Given the description of an element on the screen output the (x, y) to click on. 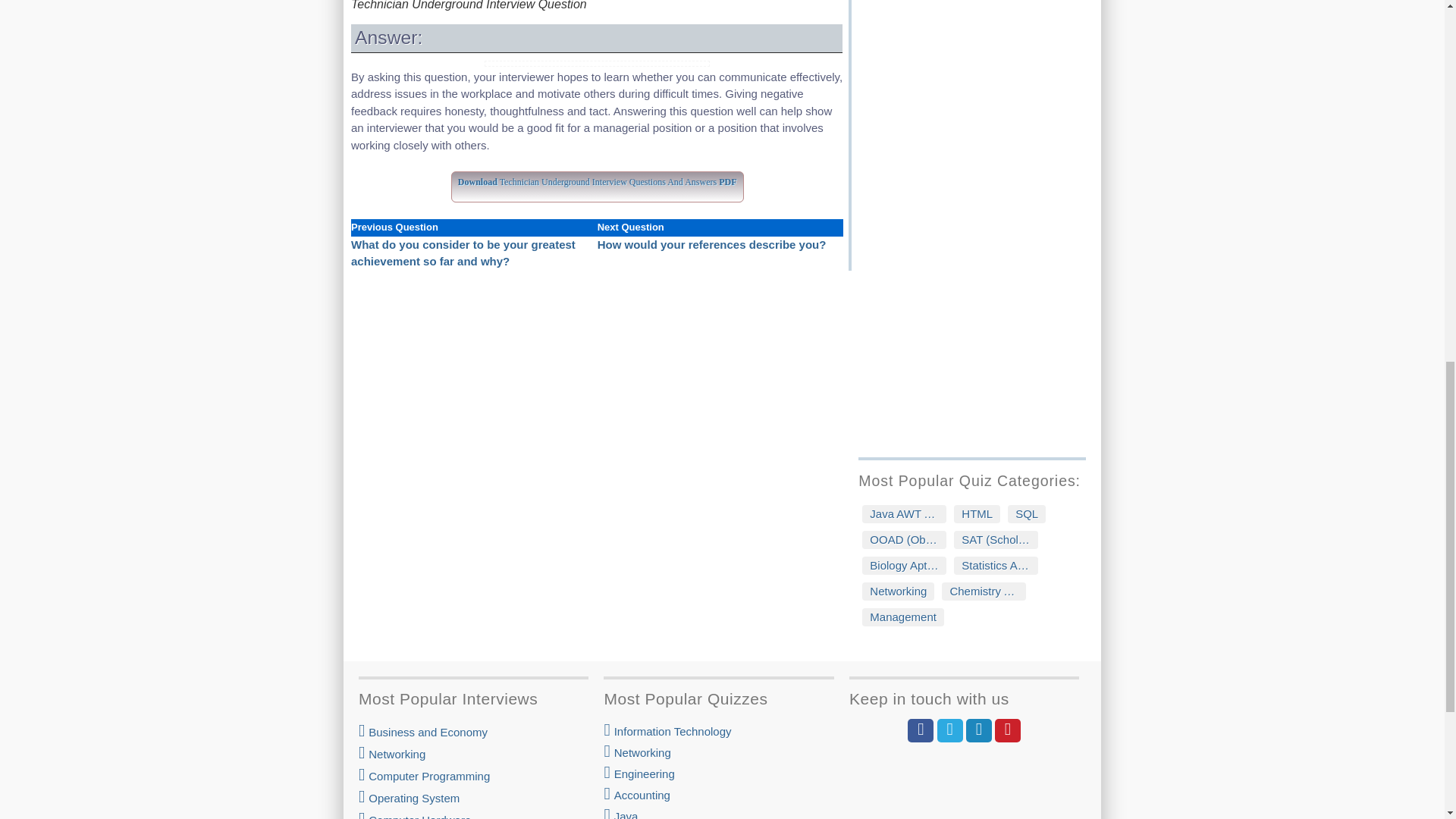
How would your references describe you? (711, 244)
Officer Production (978, 7)
Repairman (978, 27)
